Given the description of an element on the screen output the (x, y) to click on. 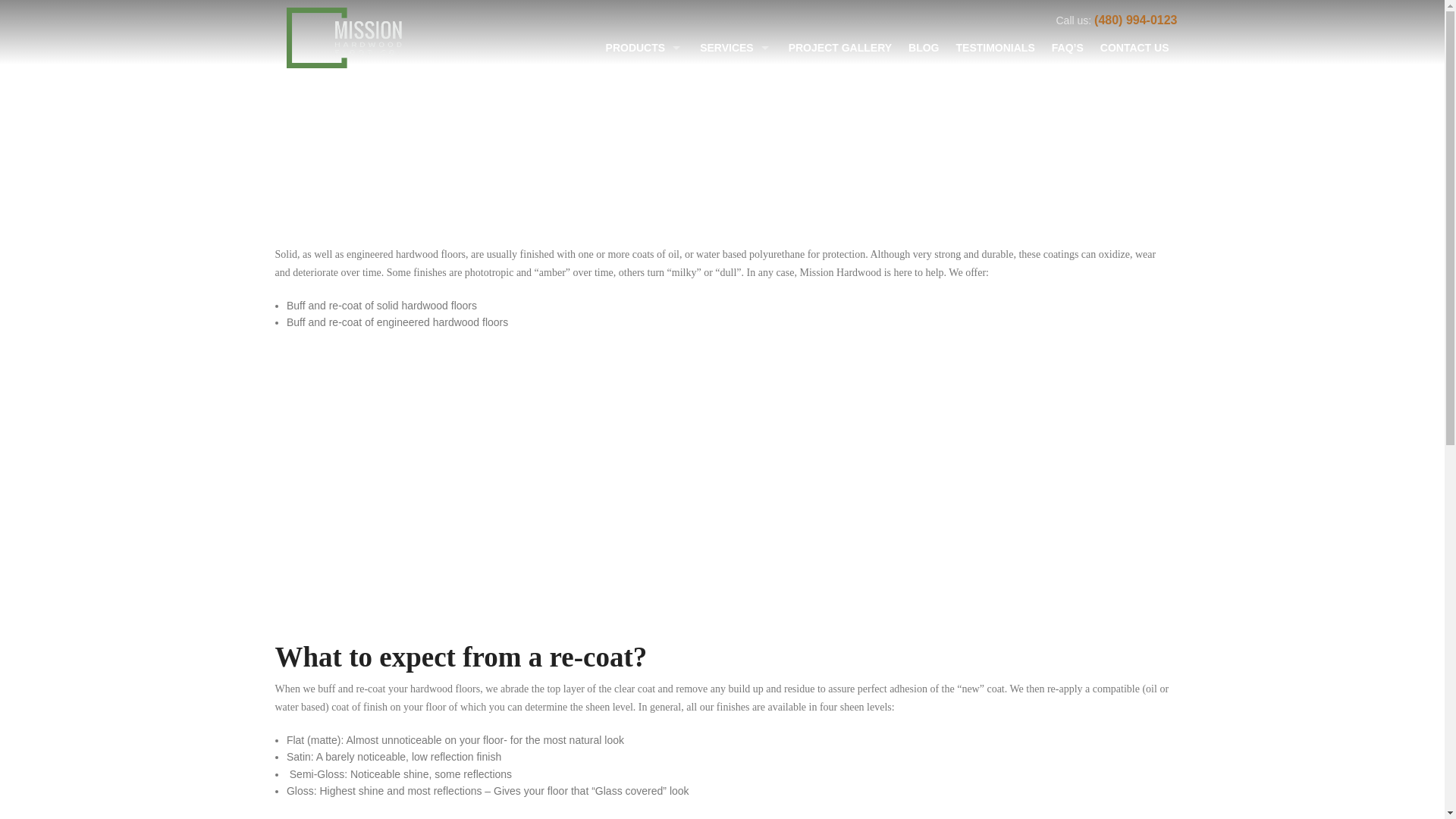
PRODUCTS (644, 51)
CONTACT US (1134, 51)
PROJECT GALLERY (839, 51)
BLOG (923, 51)
TESTIMONIALS (995, 51)
SERVICES (735, 51)
Mission Hardwood (345, 37)
